Given the description of an element on the screen output the (x, y) to click on. 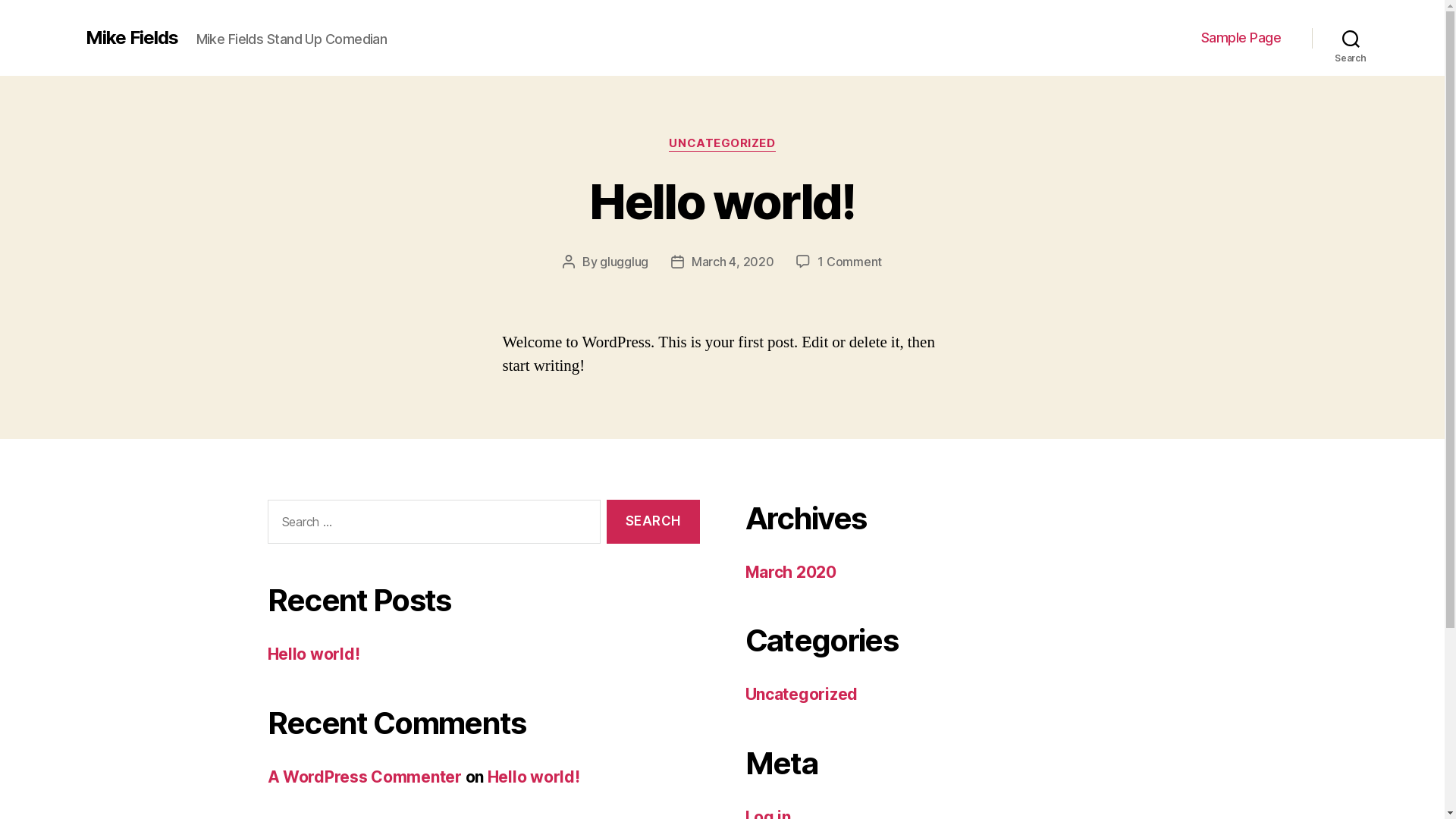
Search Element type: text (1350, 37)
UNCATEGORIZED Element type: text (721, 143)
Uncategorized Element type: text (800, 693)
Sample Page Element type: text (1241, 37)
March 4, 2020 Element type: text (732, 261)
Hello world! Element type: text (312, 653)
glugglug Element type: text (623, 261)
1 Comment
on Hello world! Element type: text (849, 261)
Search Element type: text (652, 521)
March 2020 Element type: text (789, 571)
A WordPress Commenter Element type: text (363, 776)
Hello world! Element type: text (533, 776)
Hello world! Element type: text (721, 201)
Mike Fields Element type: text (130, 37)
